Given the description of an element on the screen output the (x, y) to click on. 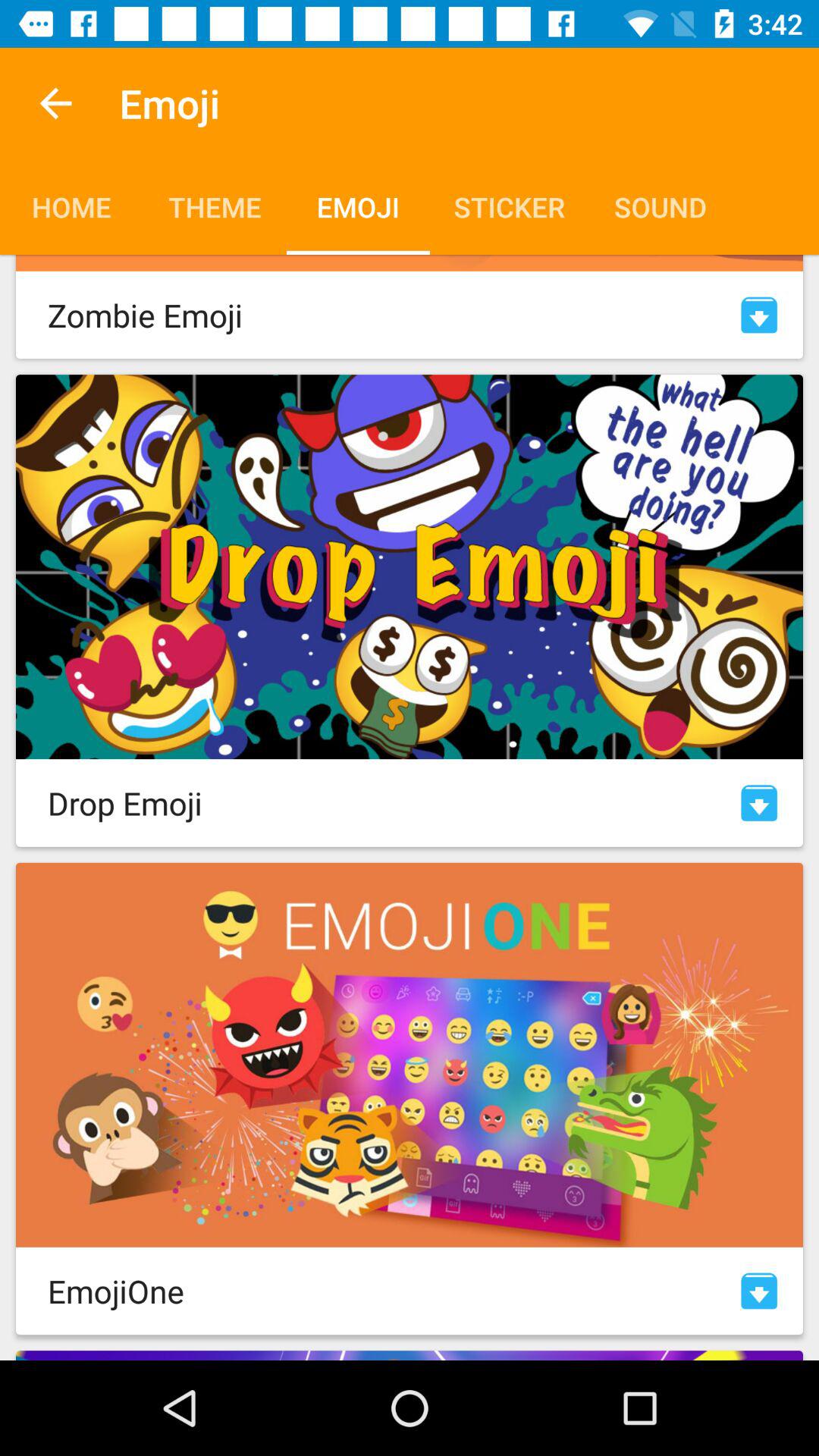
download image (759, 802)
